Given the description of an element on the screen output the (x, y) to click on. 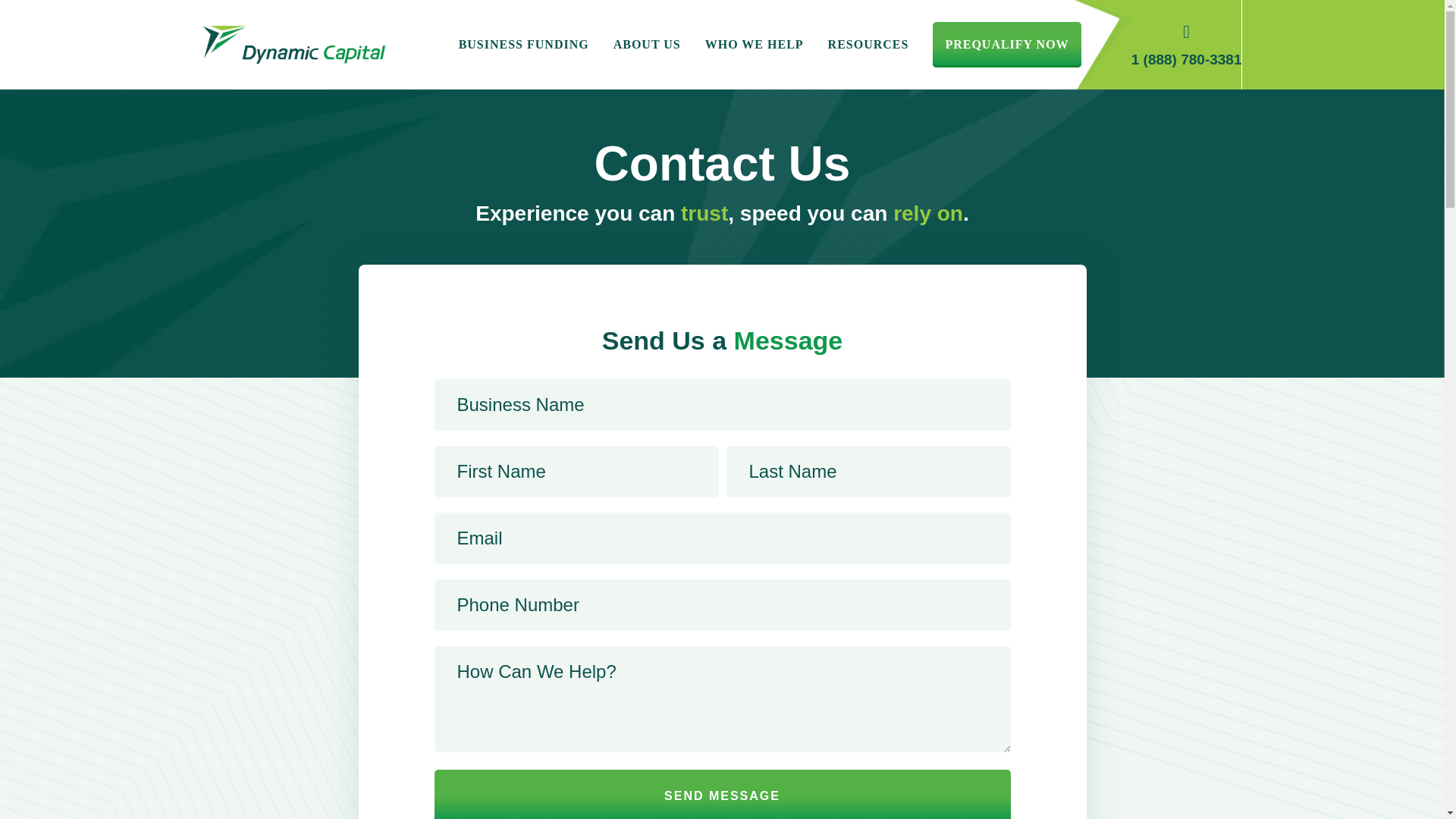
BUSINESS FUNDING (523, 44)
WHO WE HELP (754, 44)
ABOUT US (647, 44)
Send Message (721, 794)
Dynamic Capital (294, 44)
PREQUALIFY NOW (1006, 44)
RESOURCES (868, 44)
Send Message (721, 794)
